Given the description of an element on the screen output the (x, y) to click on. 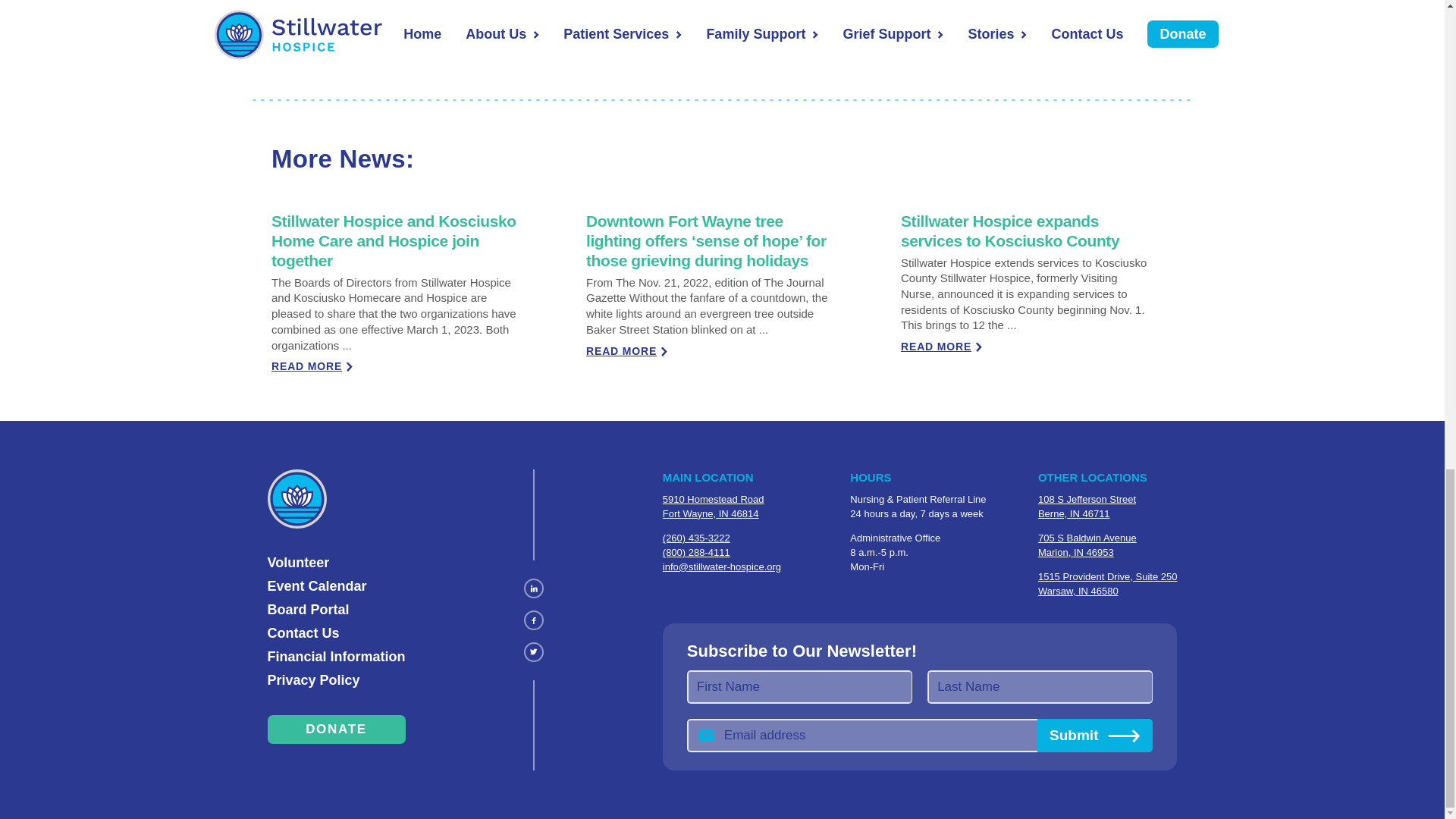
Submit (1094, 735)
